Given the description of an element on the screen output the (x, y) to click on. 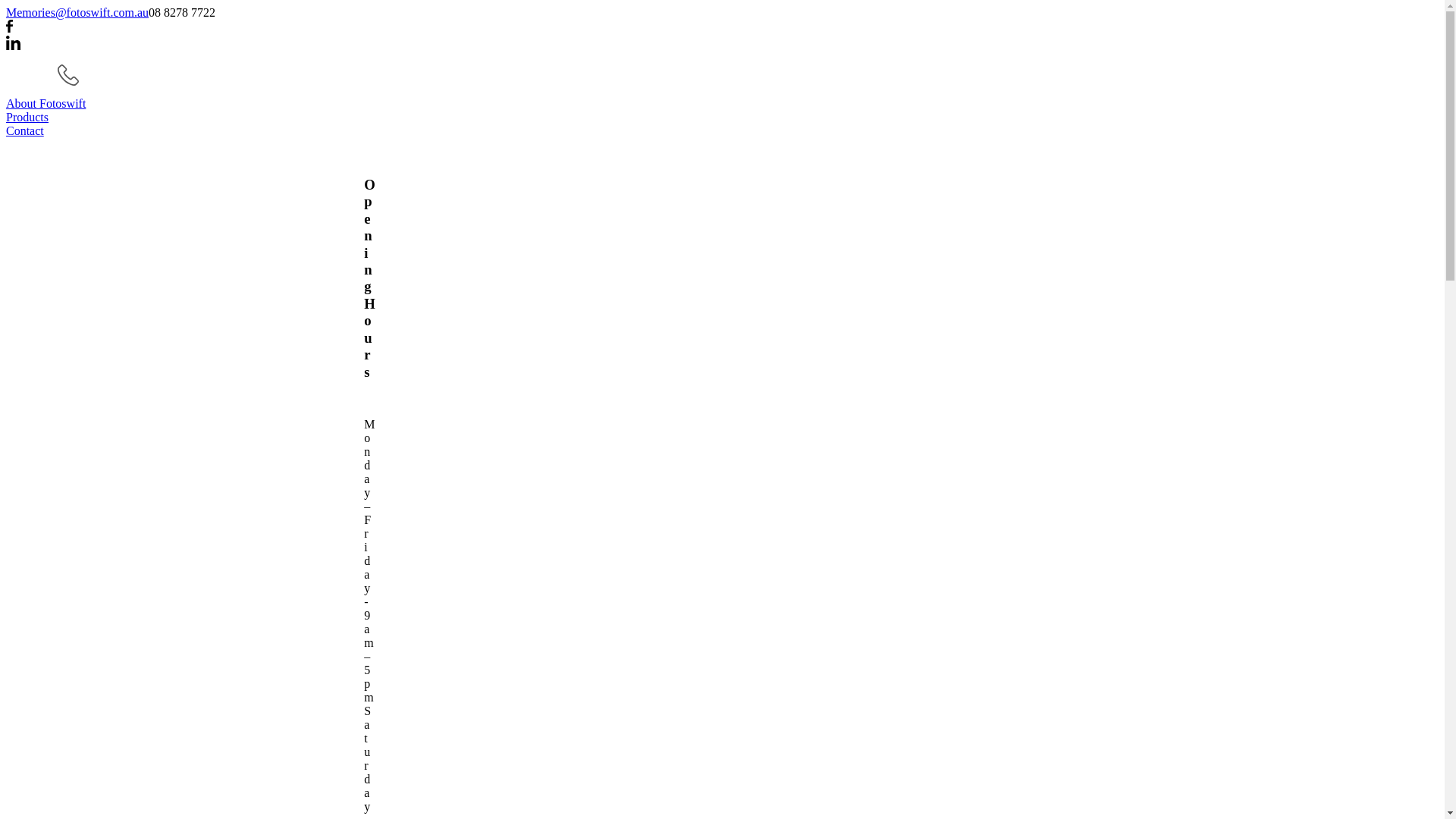
Memories@fotoswift.com.au Element type: text (77, 12)
A link to this website's LinkedIn. Element type: hover (13, 45)
About Fotoswift Element type: text (722, 103)
A link to this website's Facebook. Element type: hover (9, 27)
A link to this website's Twitter. Element type: hover (20, 27)
Products Element type: text (722, 117)
Contact Element type: text (722, 131)
